Given the description of an element on the screen output the (x, y) to click on. 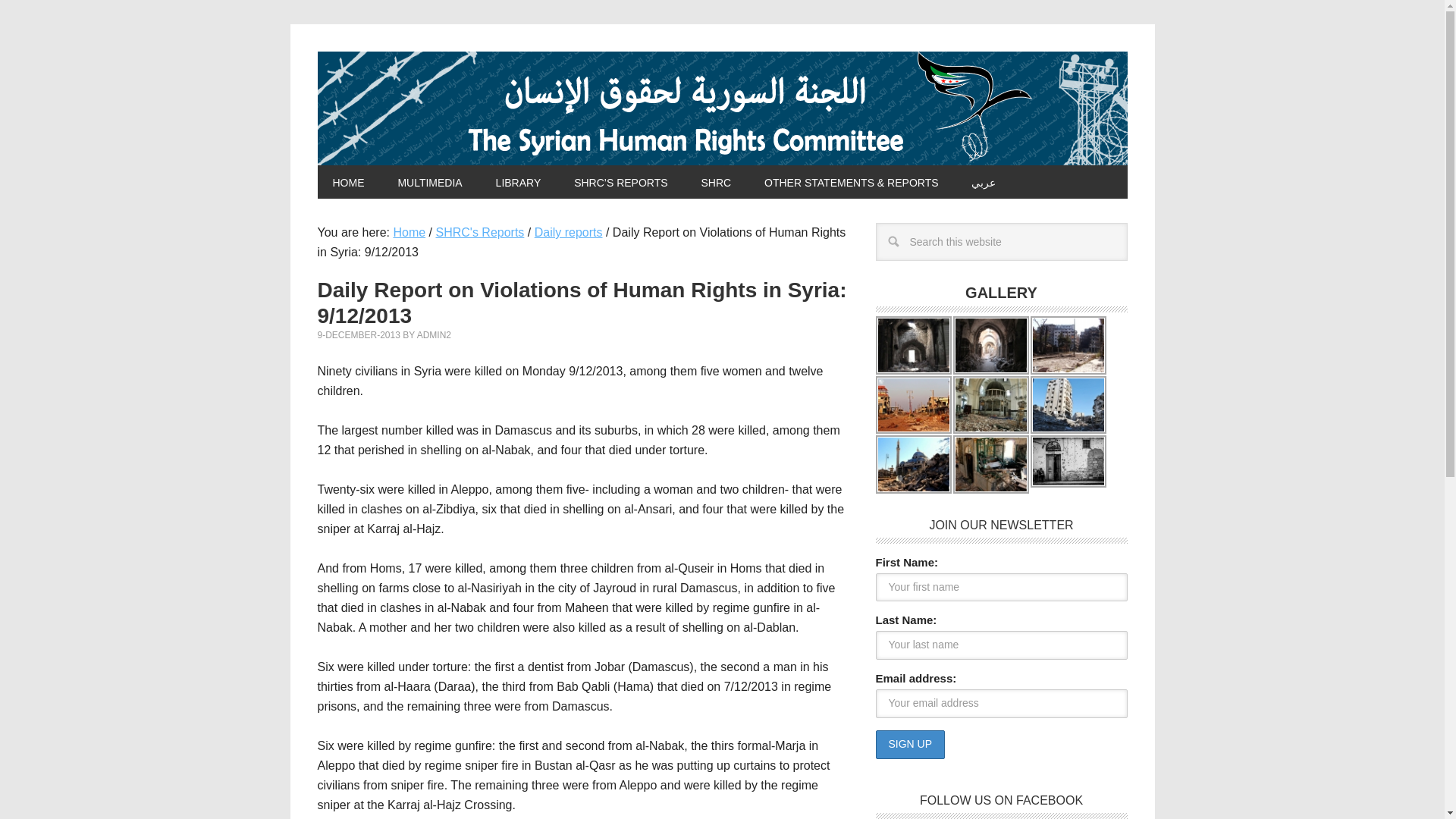
ADMIN2 (433, 335)
bosr-alhareer-18-7-2013 (912, 404)
Sign up (909, 744)
SHRC (715, 182)
Daily reports (568, 232)
HOME (347, 182)
SHRC's Reports (479, 232)
hama-road-hums19-7-2013 (1067, 345)
MULTIMEDIA (429, 182)
LIBRARY (518, 182)
Home (409, 232)
Old Aleppo 20-7-2013 (912, 345)
SYRIAN HUMAN RIGHTS COMMITTEE (721, 108)
